Given the description of an element on the screen output the (x, y) to click on. 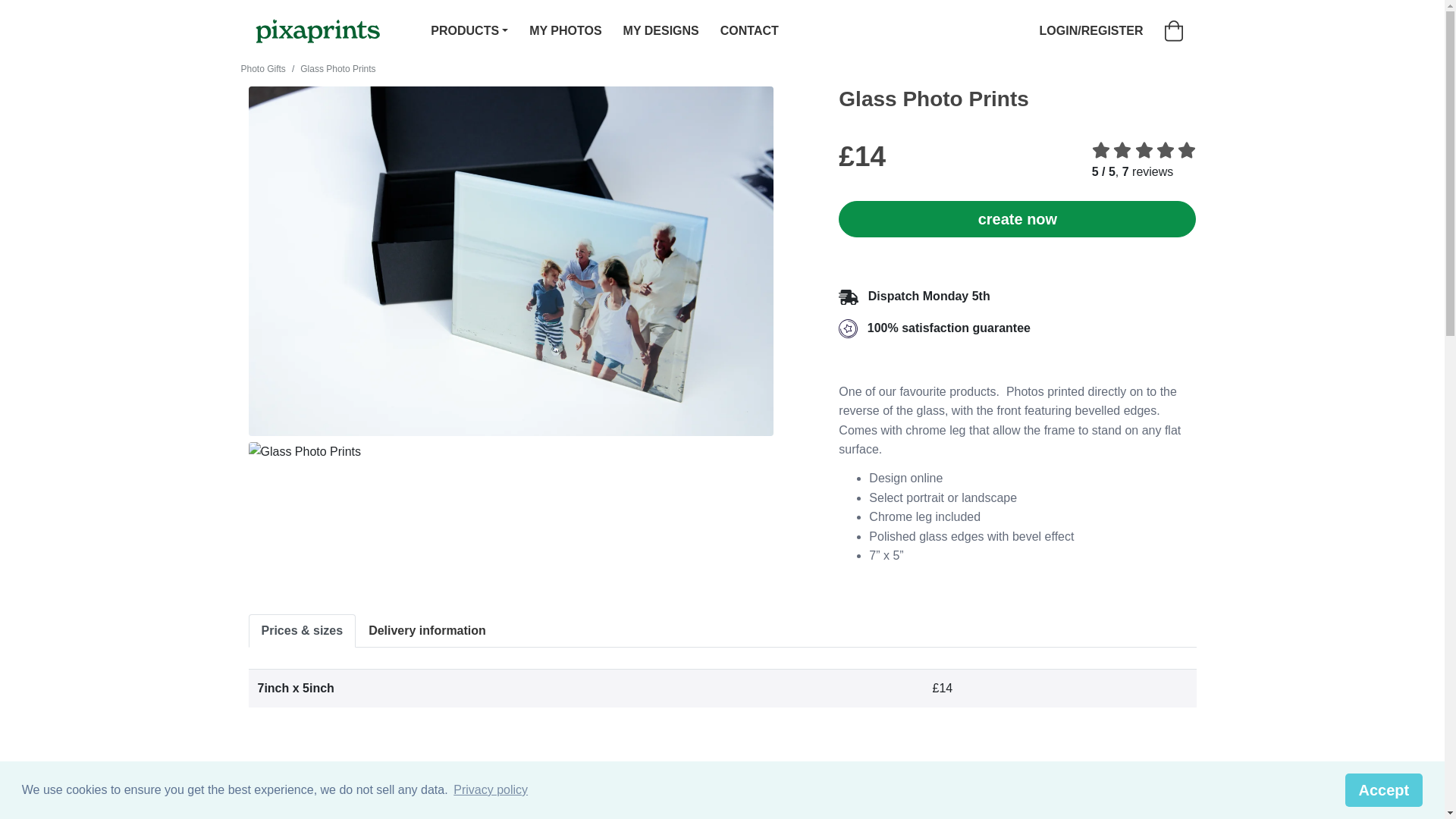
My designs (661, 31)
Pixa Prints (317, 30)
PRODUCTS (469, 31)
CONTACT (749, 31)
Delivery information (427, 630)
My photos (564, 31)
MY DESIGNS (661, 31)
Accept (1384, 789)
Photo Gifts (263, 68)
MY PHOTOS (564, 31)
Pixa Prints (317, 30)
Privacy policy (490, 789)
Contact (749, 31)
create now (1016, 218)
